Given the description of an element on the screen output the (x, y) to click on. 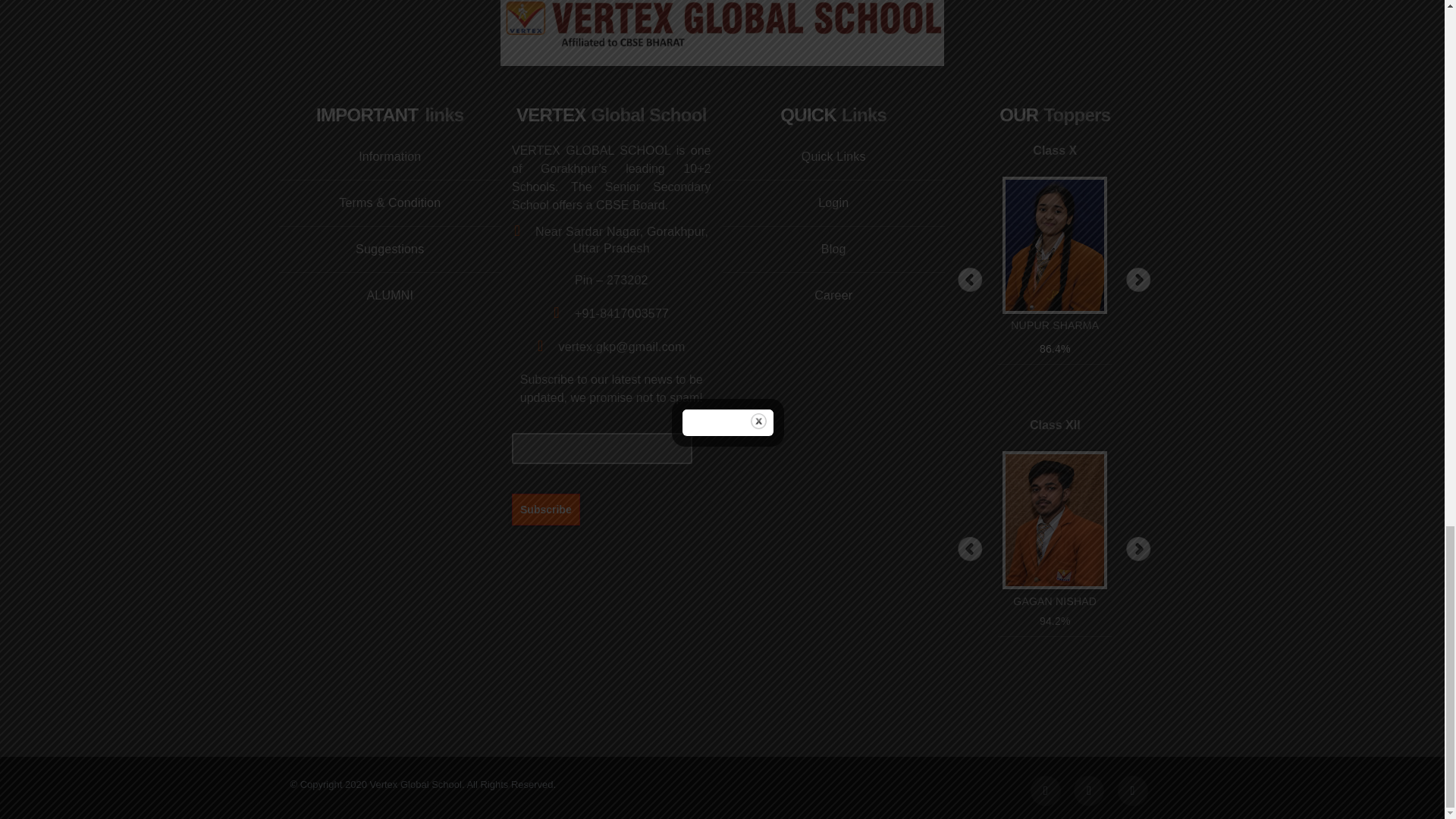
Subscribe (545, 508)
